Given the description of an element on the screen output the (x, y) to click on. 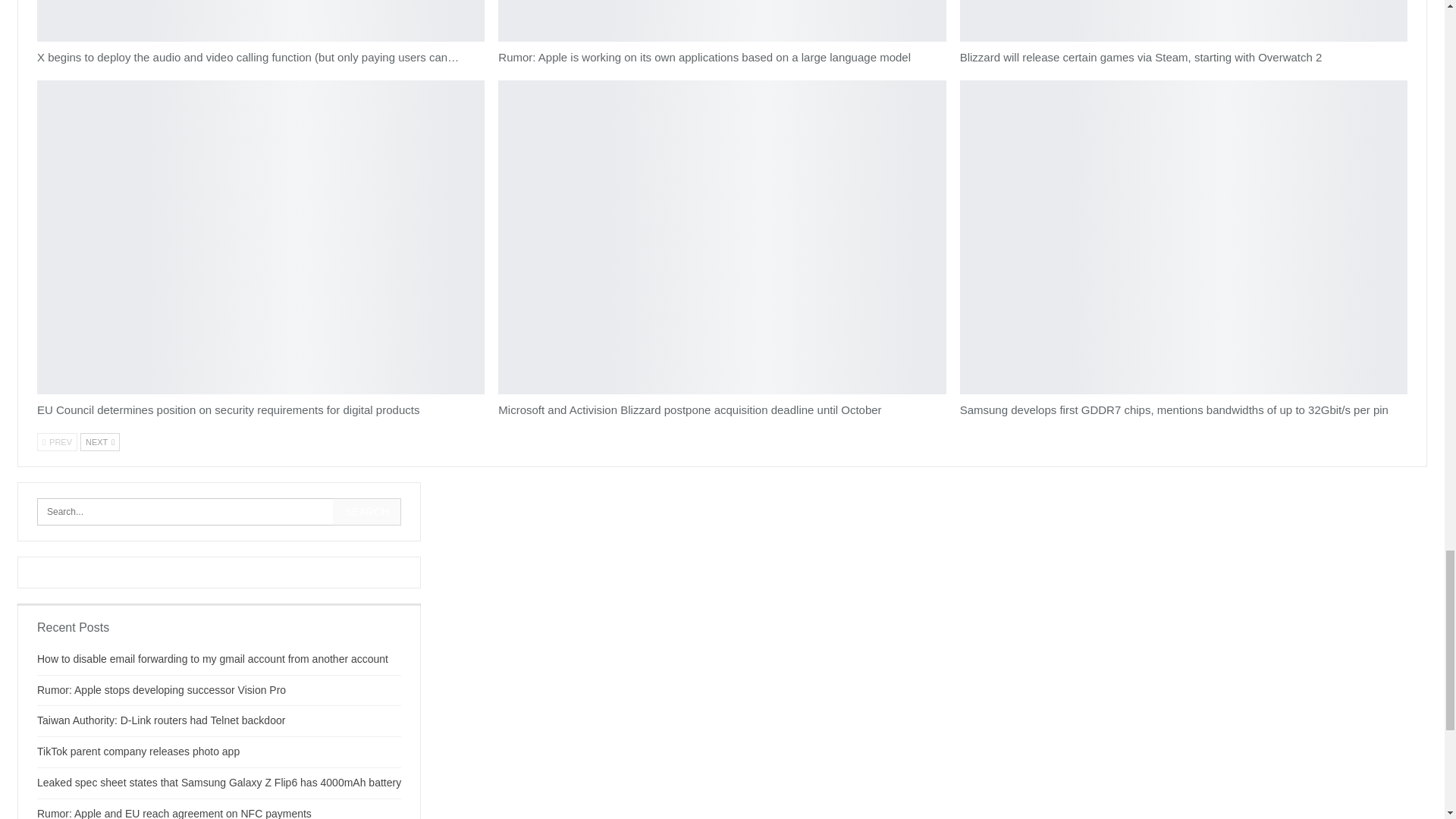
Search (367, 511)
Search (367, 511)
